Given the description of an element on the screen output the (x, y) to click on. 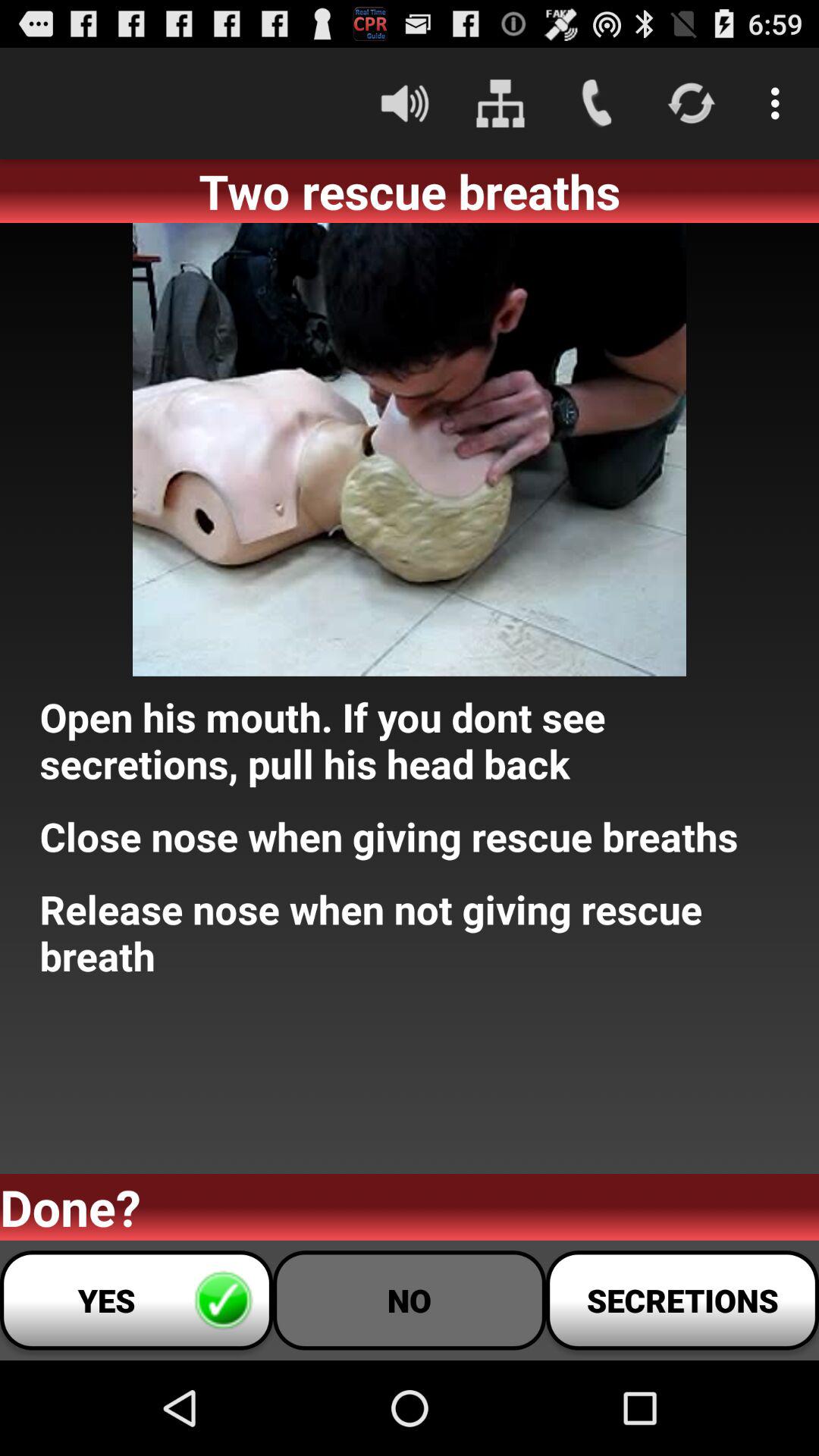
launch the icon at the bottom left corner (136, 1300)
